Given the description of an element on the screen output the (x, y) to click on. 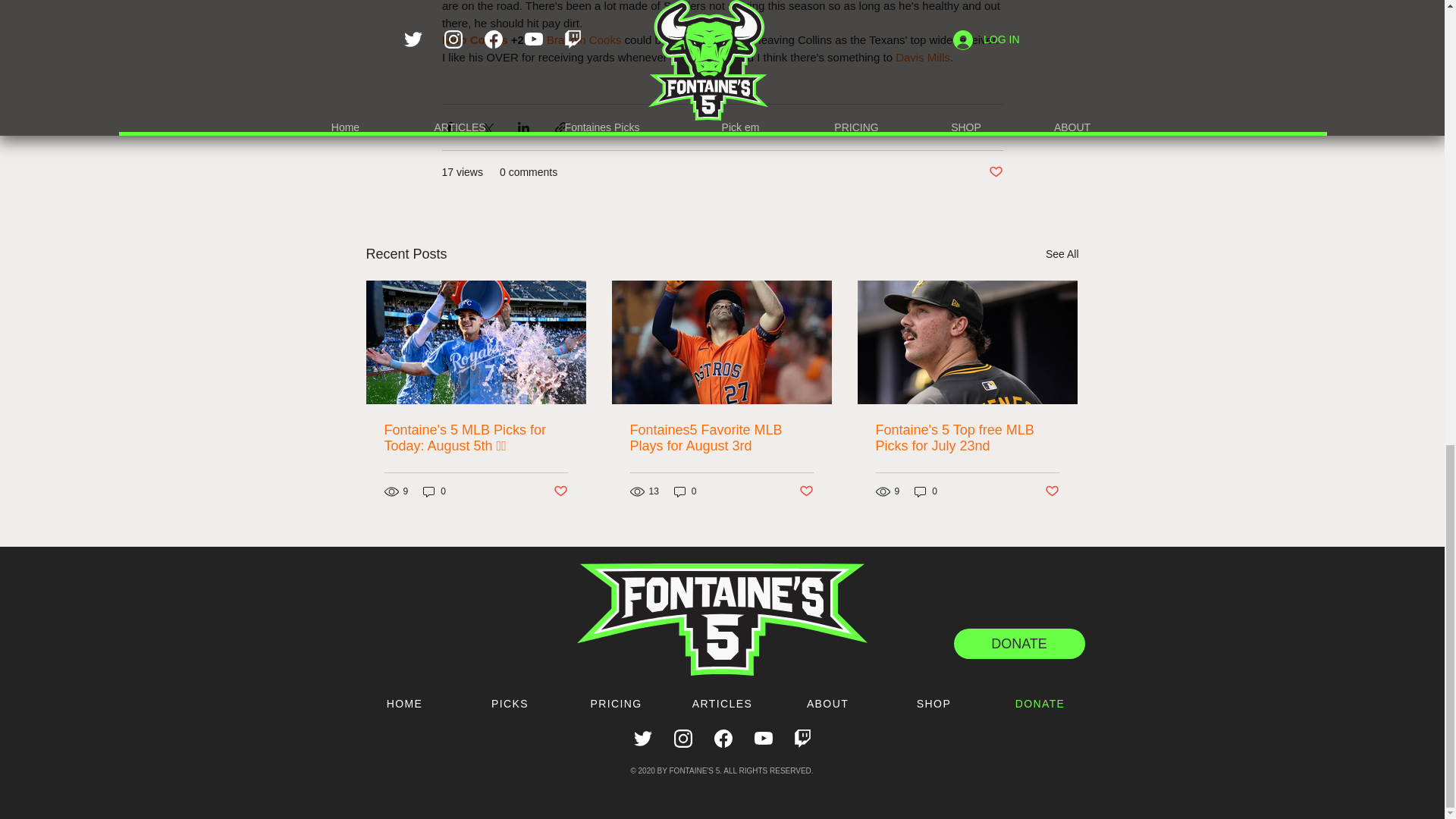
Nico Collins (473, 39)
Brandin Cooks (583, 39)
